Given the description of an element on the screen output the (x, y) to click on. 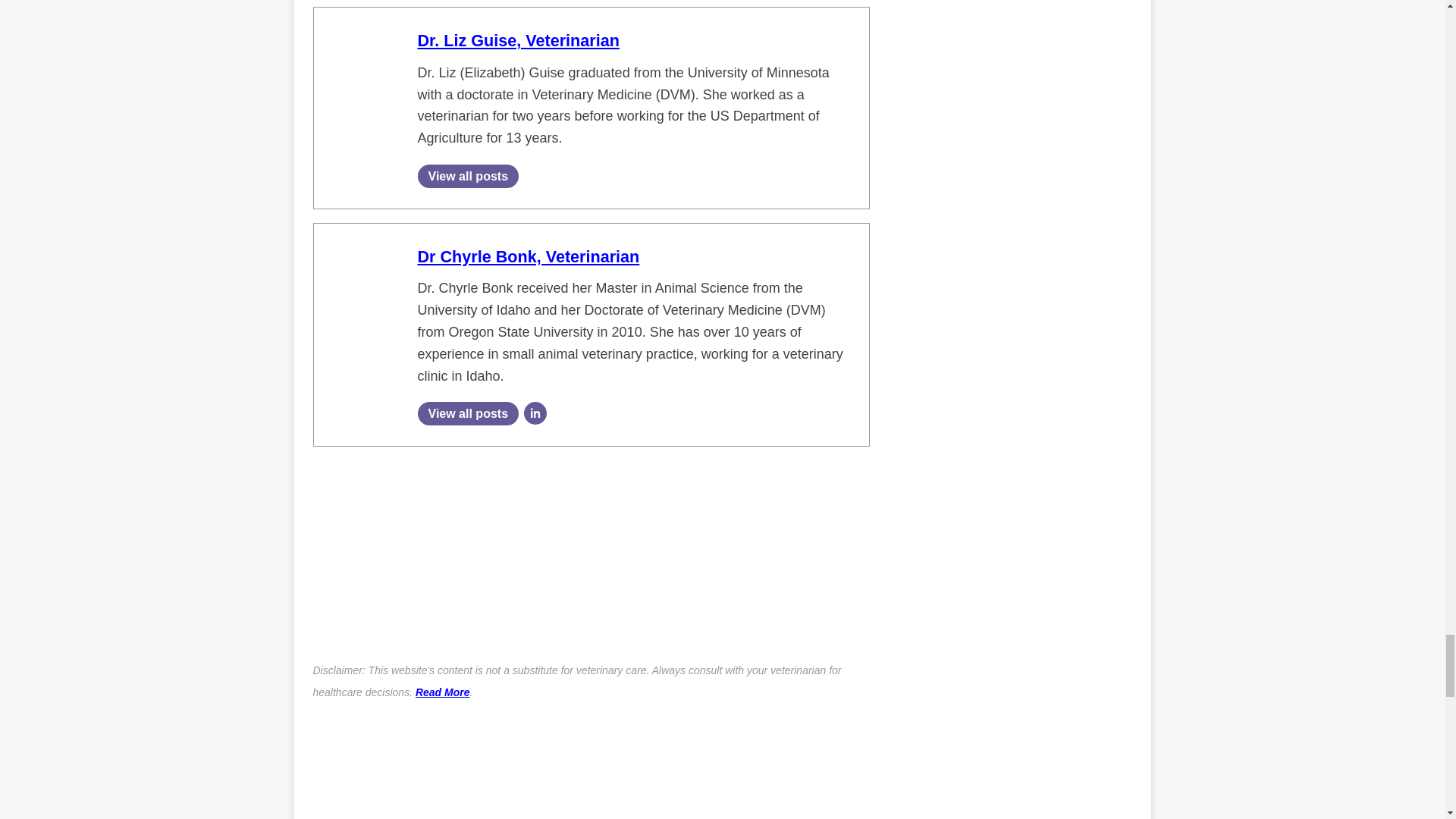
View all posts (467, 176)
View all posts (467, 413)
Dr Chyrle Bonk, Veterinarian (527, 256)
Dr. Liz Guise, Veterinarian (517, 40)
